Given the description of an element on the screen output the (x, y) to click on. 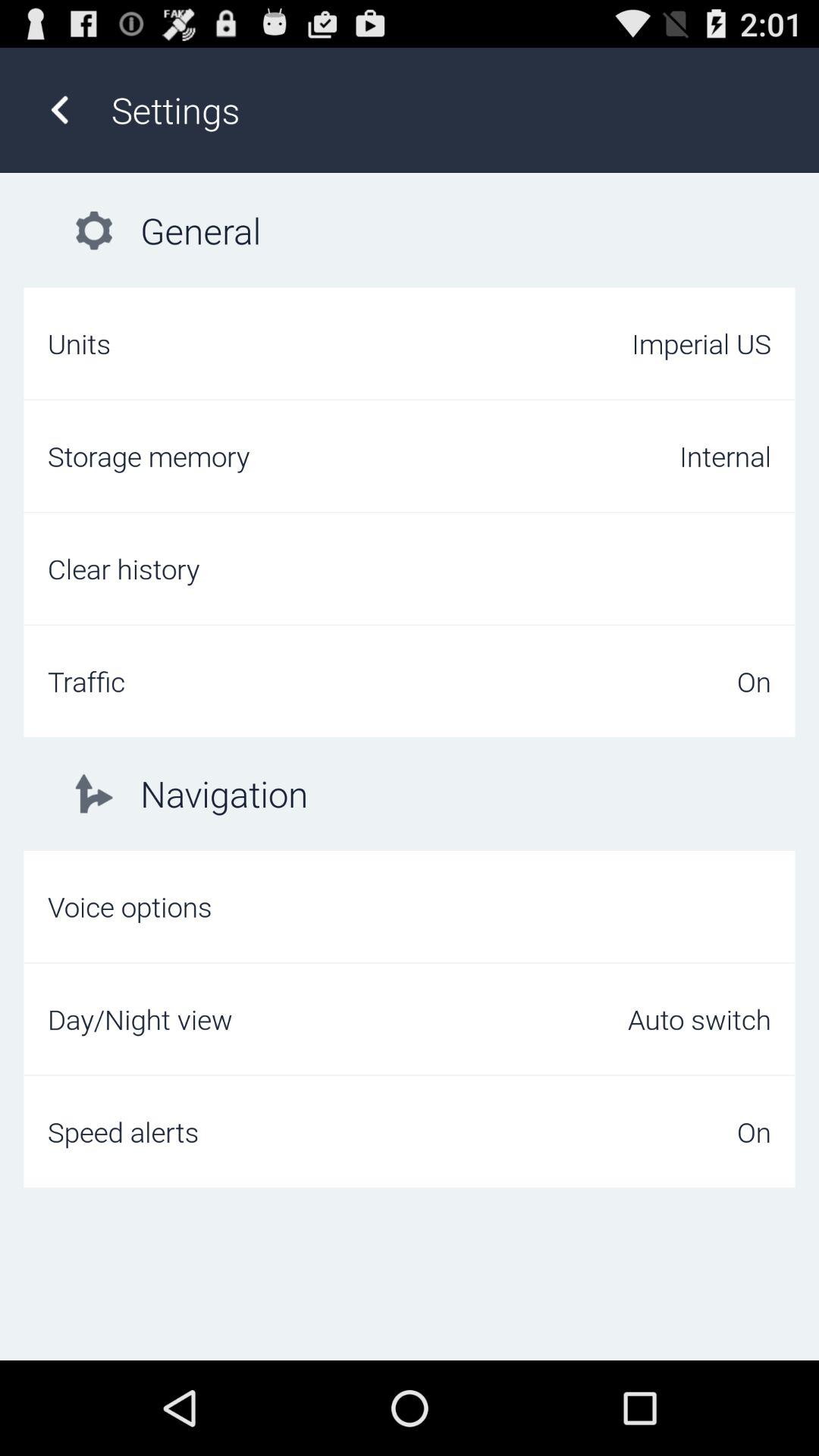
click the settings item (449, 109)
